Given the description of an element on the screen output the (x, y) to click on. 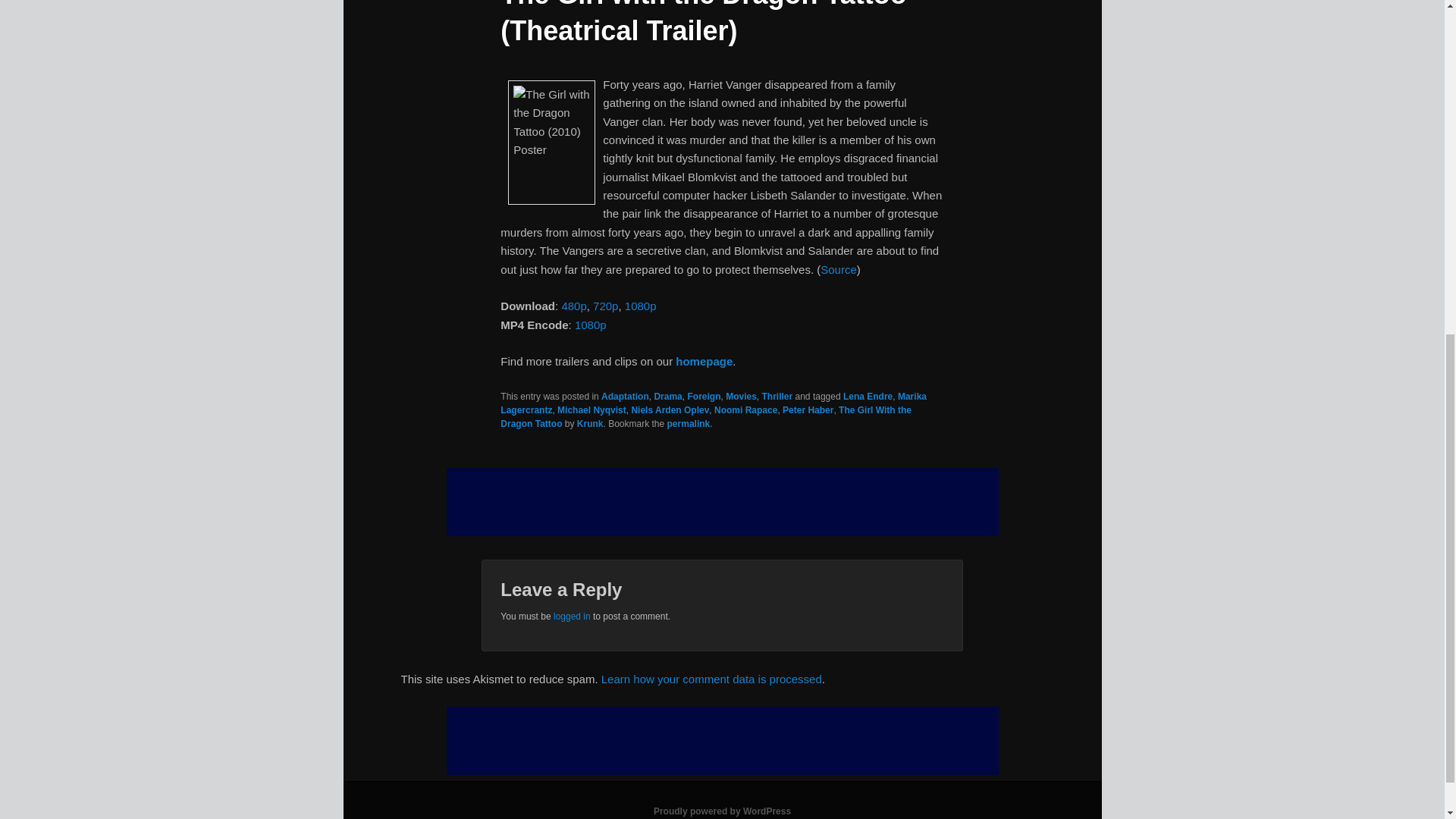
1080p (640, 305)
Source (839, 269)
480p (573, 305)
Lena Endre (867, 396)
Semantic Personal Publishing Platform (721, 810)
Thriller (776, 396)
720p (604, 305)
1080p (591, 324)
Movies (741, 396)
homepage (703, 360)
Foreign (703, 396)
Drama (667, 396)
Adaptation (625, 396)
